Given the description of an element on the screen output the (x, y) to click on. 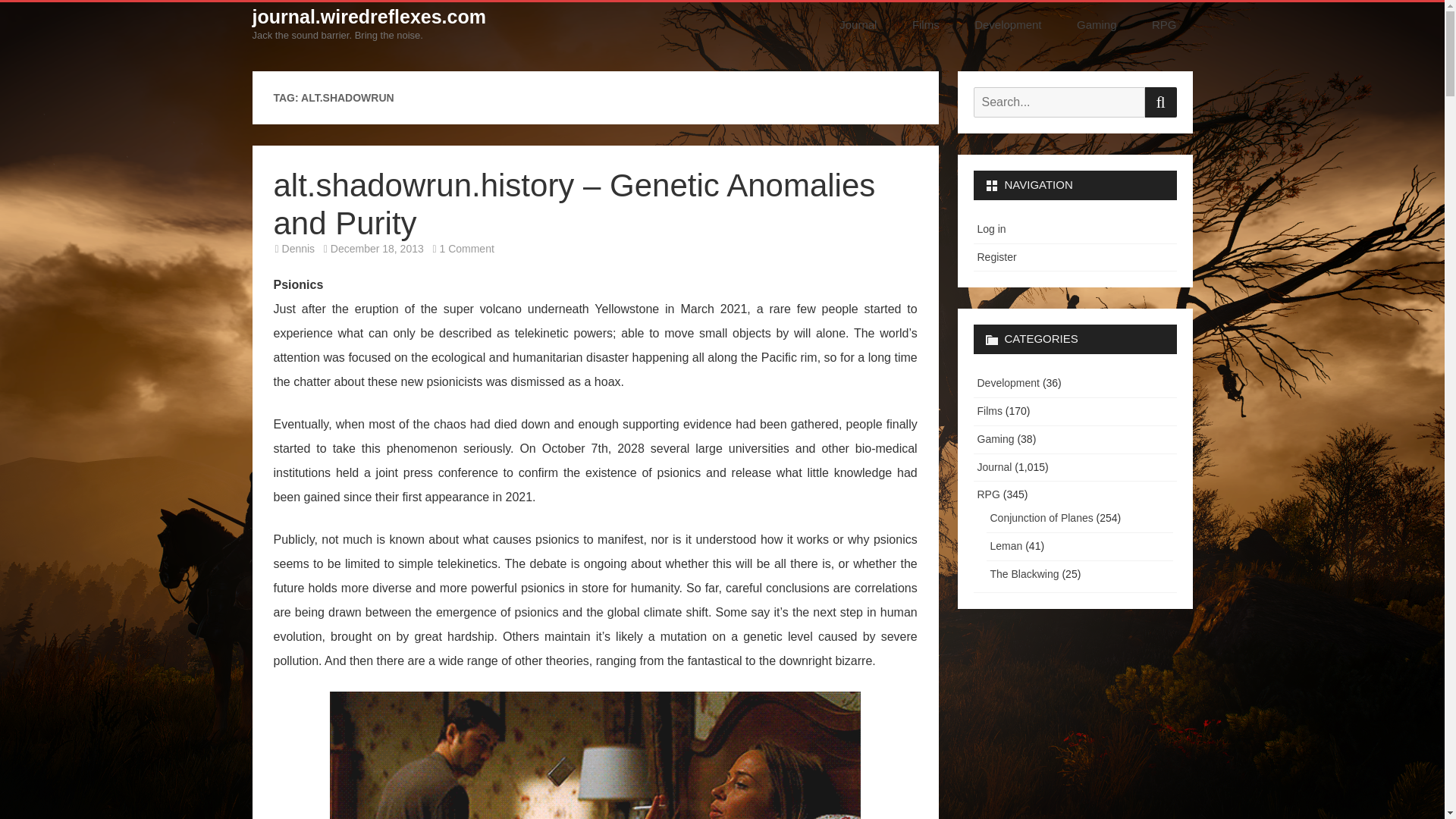
Films (925, 24)
Dennis (298, 248)
journal.wiredreflexes.com (367, 16)
Register (996, 256)
journal.wiredreflexes.com (367, 16)
RPG (1163, 24)
Journal (863, 24)
Search (1160, 101)
